Given the description of an element on the screen output the (x, y) to click on. 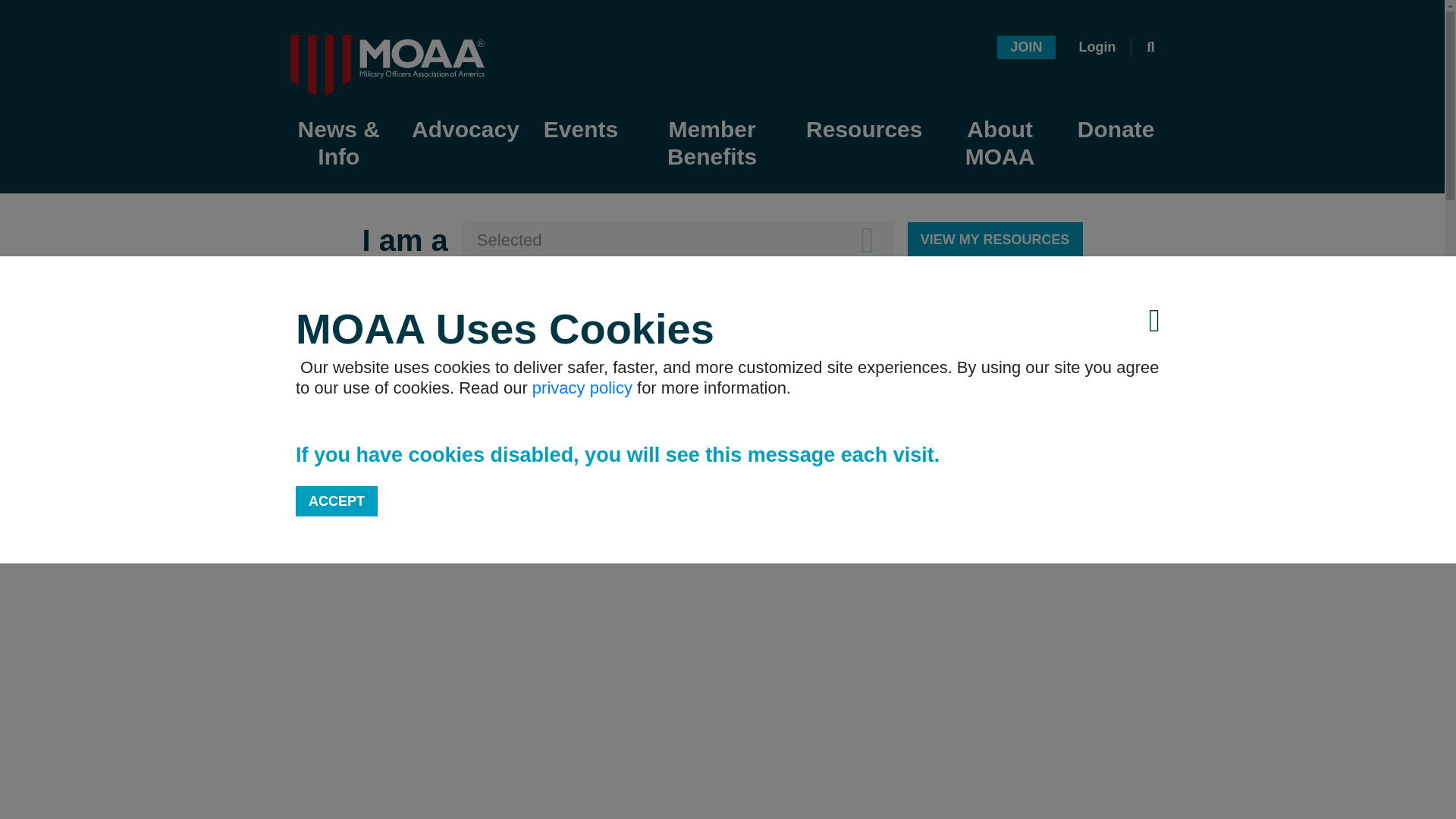
Advocacy (464, 130)
ACCEPT (336, 500)
Member Benefits (711, 143)
JOIN (1025, 46)
Events (580, 130)
privacy policy (581, 386)
Login (1096, 46)
